Given the description of an element on the screen output the (x, y) to click on. 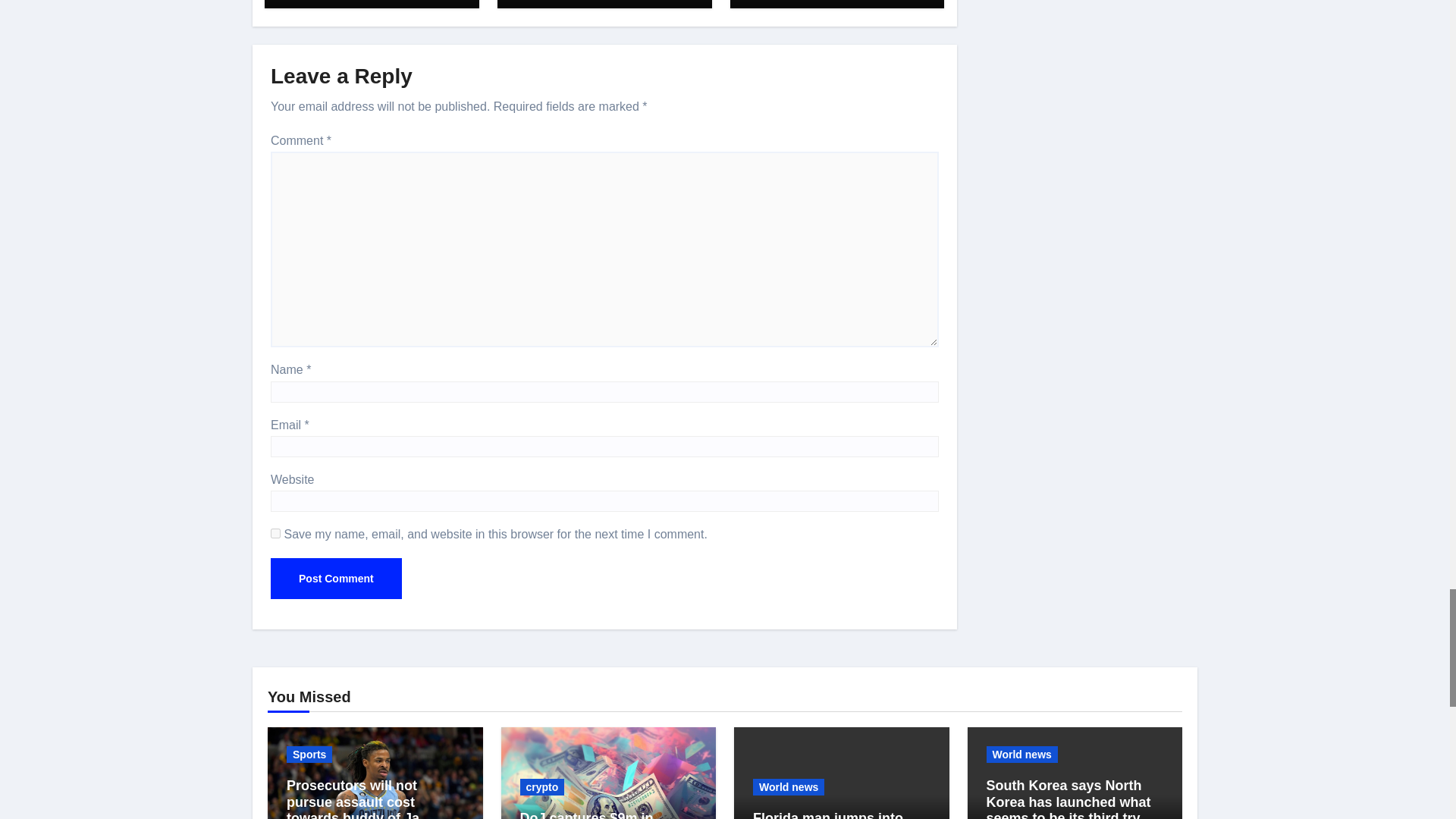
yes (275, 533)
Post Comment (335, 577)
